Given the description of an element on the screen output the (x, y) to click on. 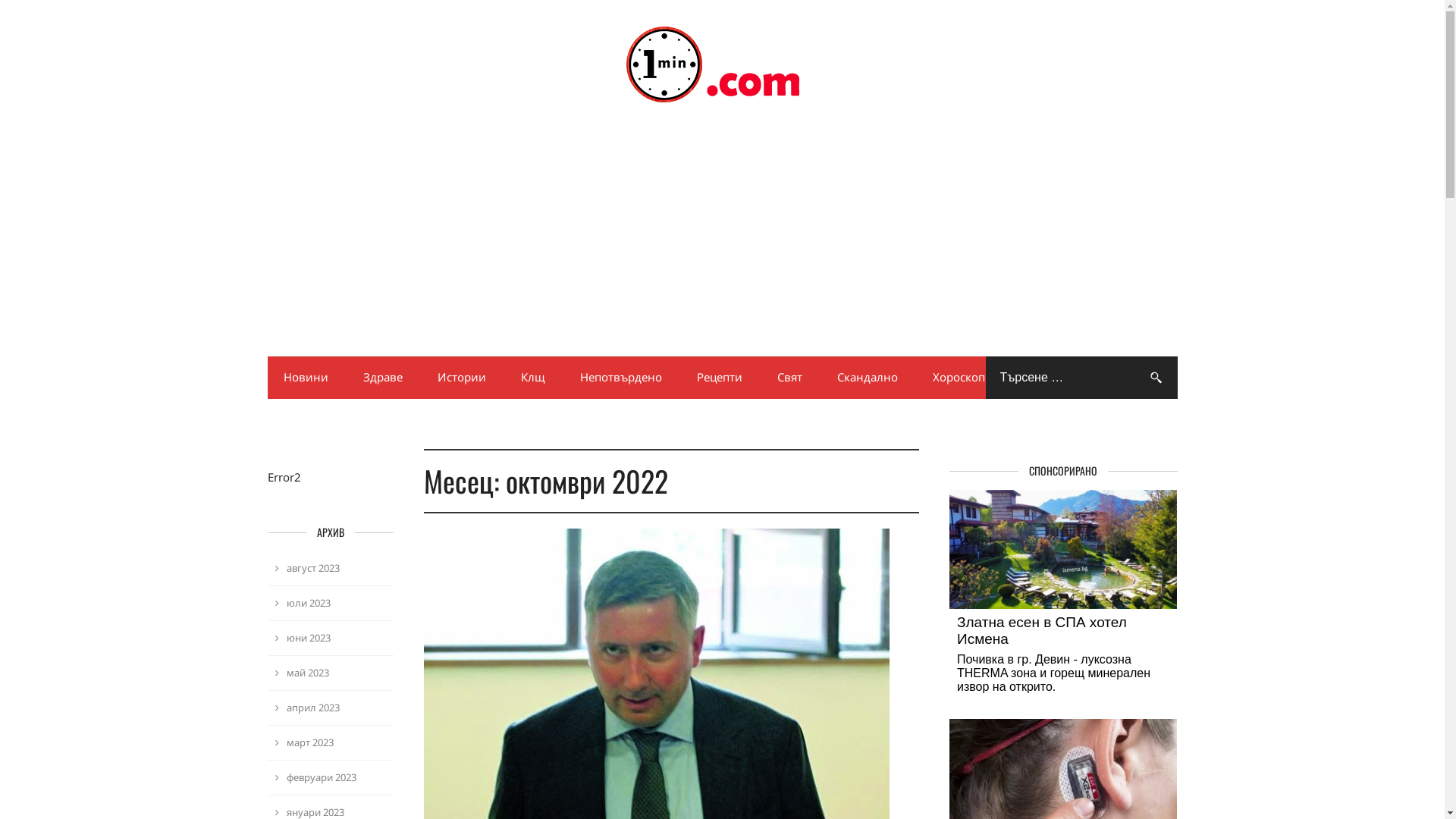
Advertisement Element type: hover (721, 244)
